Given the description of an element on the screen output the (x, y) to click on. 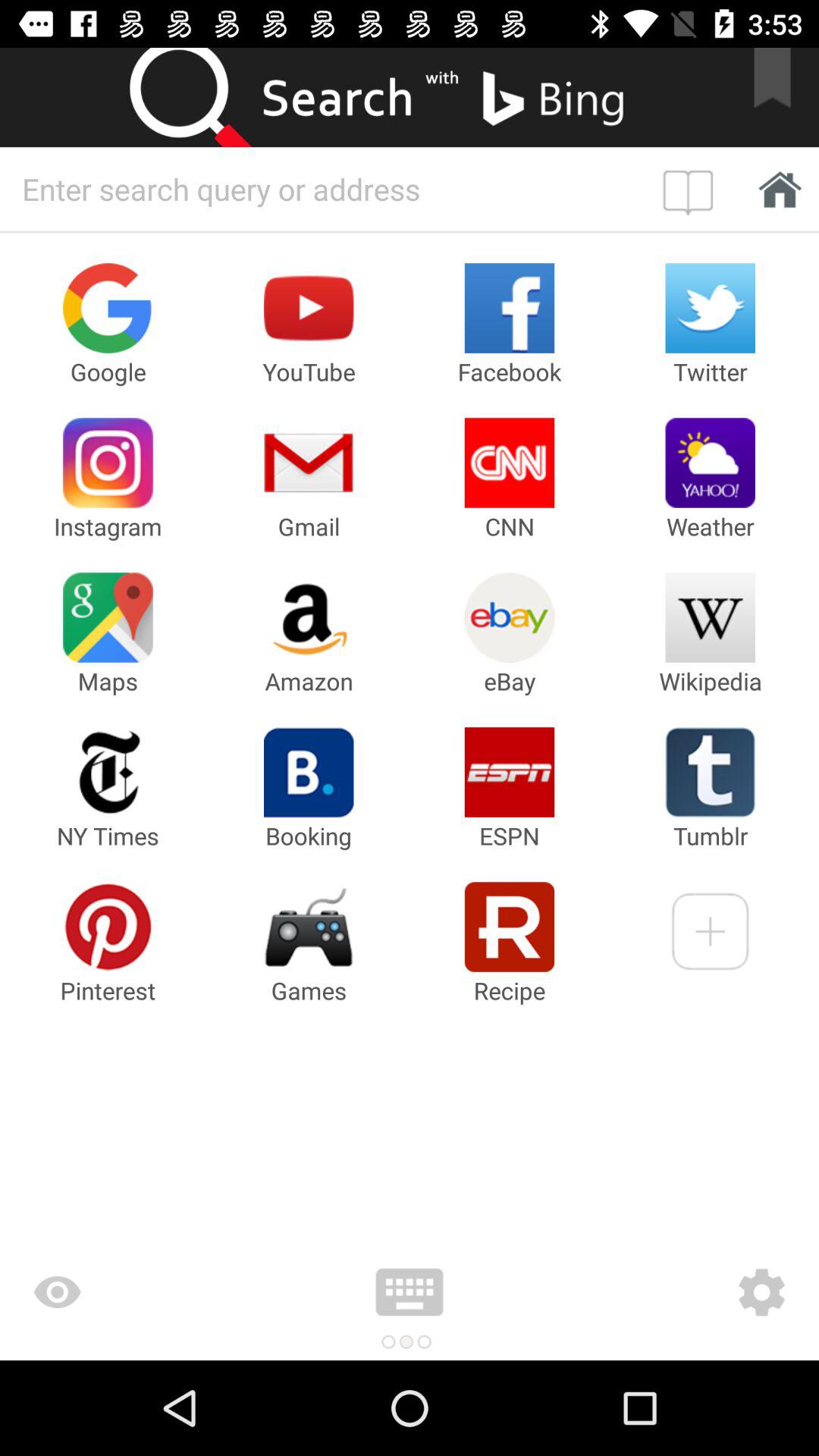
click on settings (671, 1292)
